Given the description of an element on the screen output the (x, y) to click on. 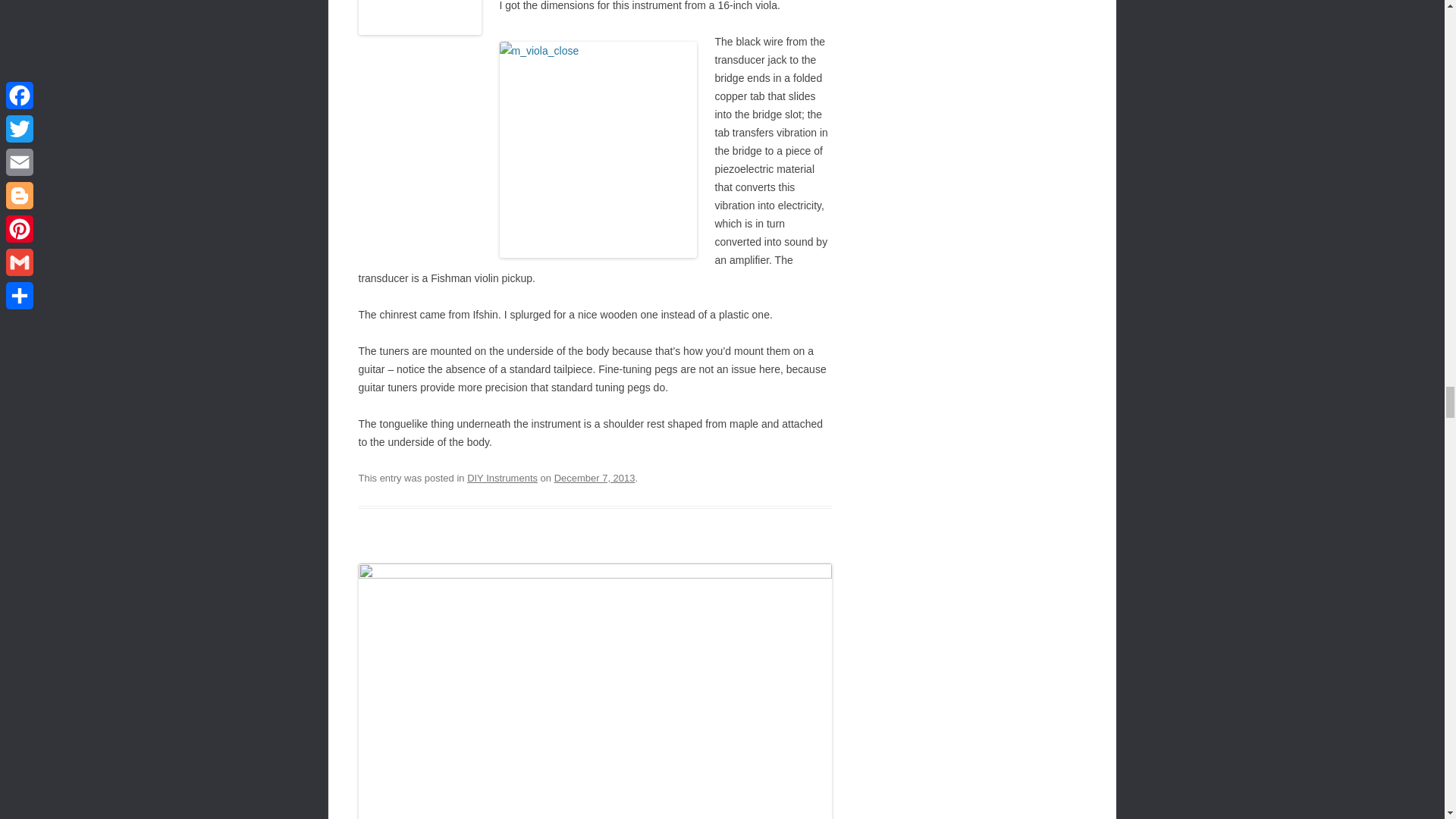
2:09 pm (594, 478)
